Given the description of an element on the screen output the (x, y) to click on. 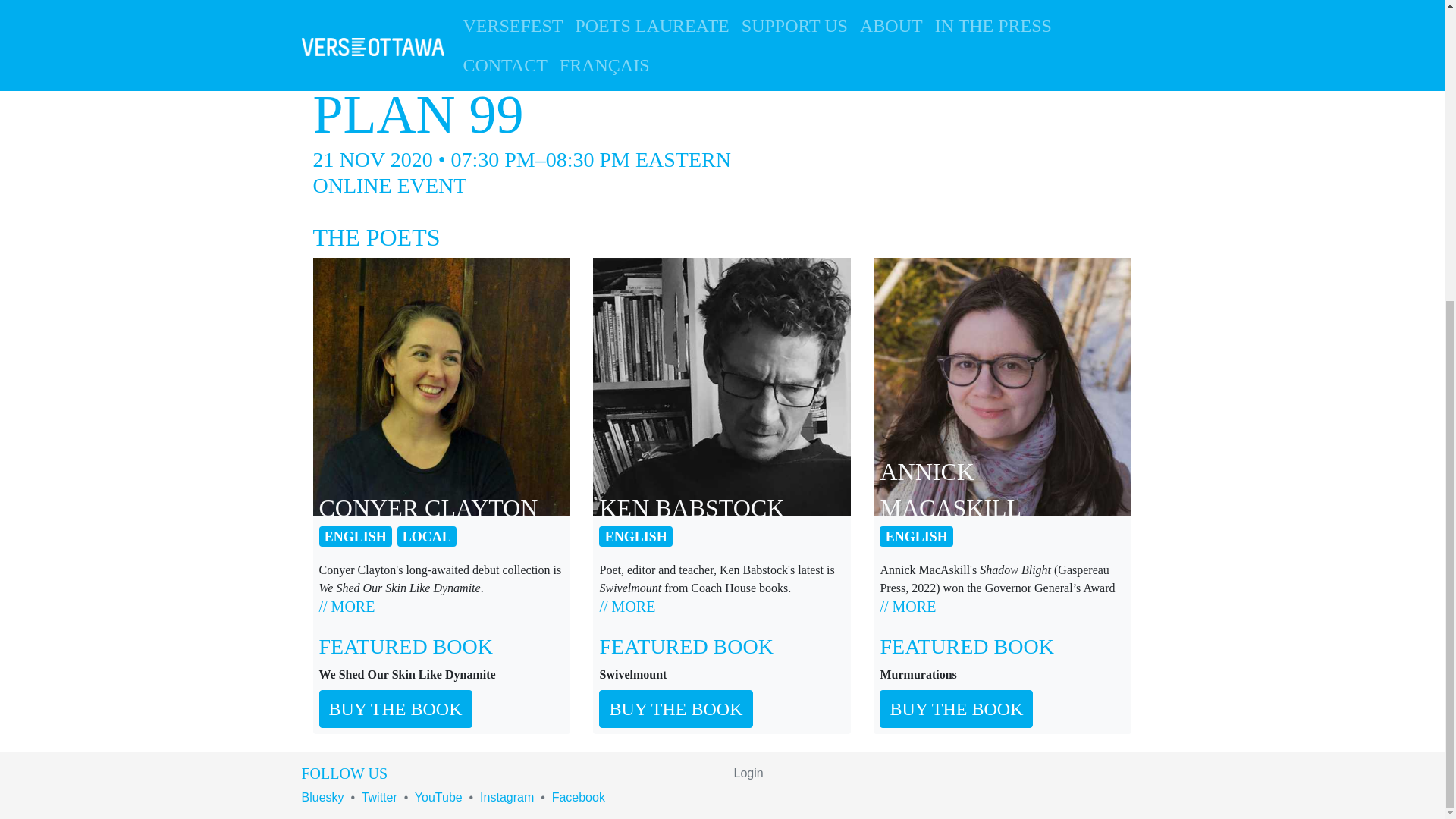
YouTube (438, 797)
BUY THE BOOK (955, 709)
Instagram (507, 797)
ANNICK MACASKILL (1002, 386)
Login (747, 772)
KEN BABSTOCK (721, 386)
BUY THE BOOK (394, 709)
CONYER CLAYTON (441, 386)
Twitter (379, 797)
Bluesky (322, 797)
Facebook (578, 797)
BUY THE BOOK (675, 709)
